Given the description of an element on the screen output the (x, y) to click on. 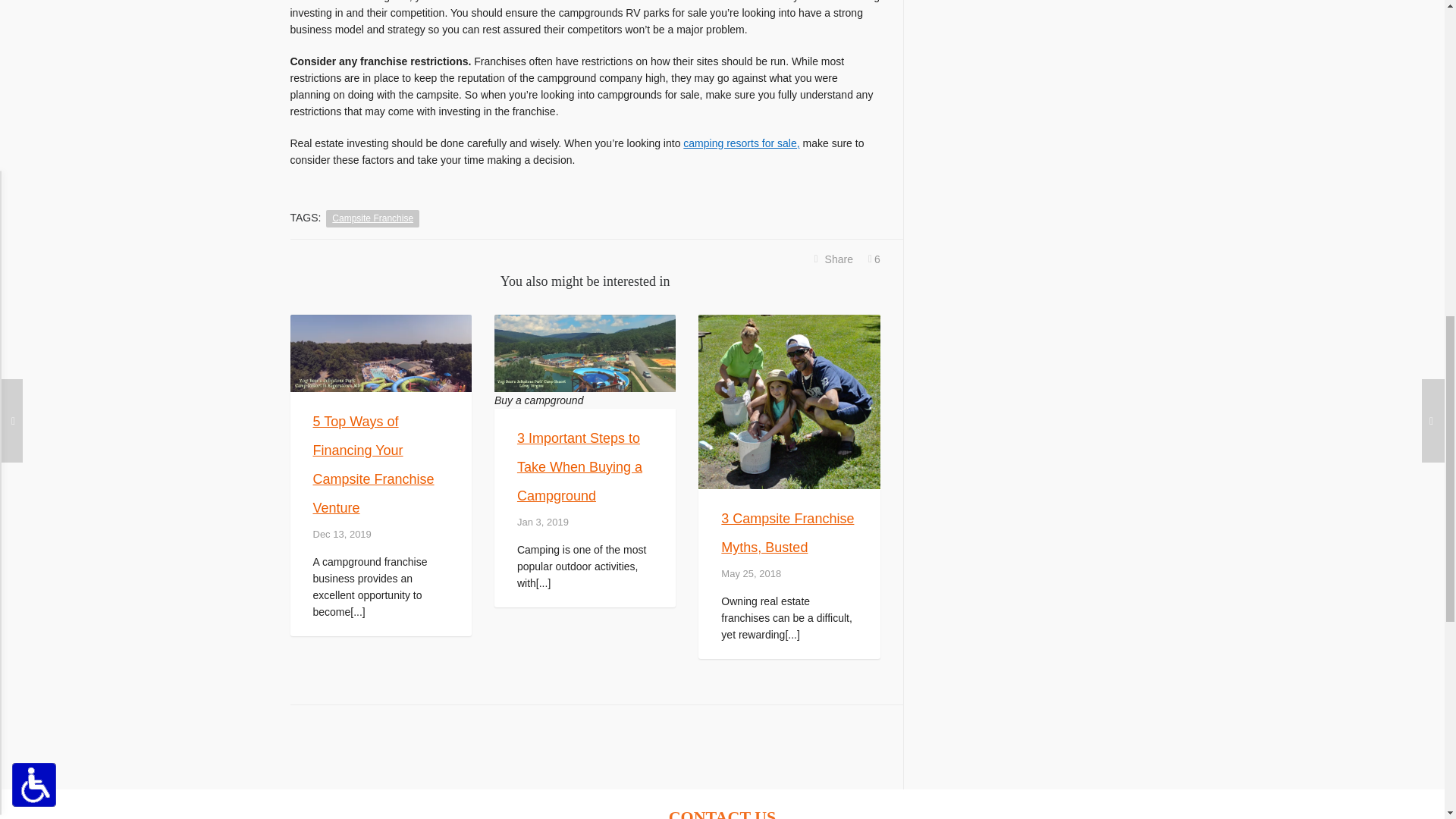
Campsite Franchise (372, 218)
camping resorts for sale, (740, 143)
